Given the description of an element on the screen output the (x, y) to click on. 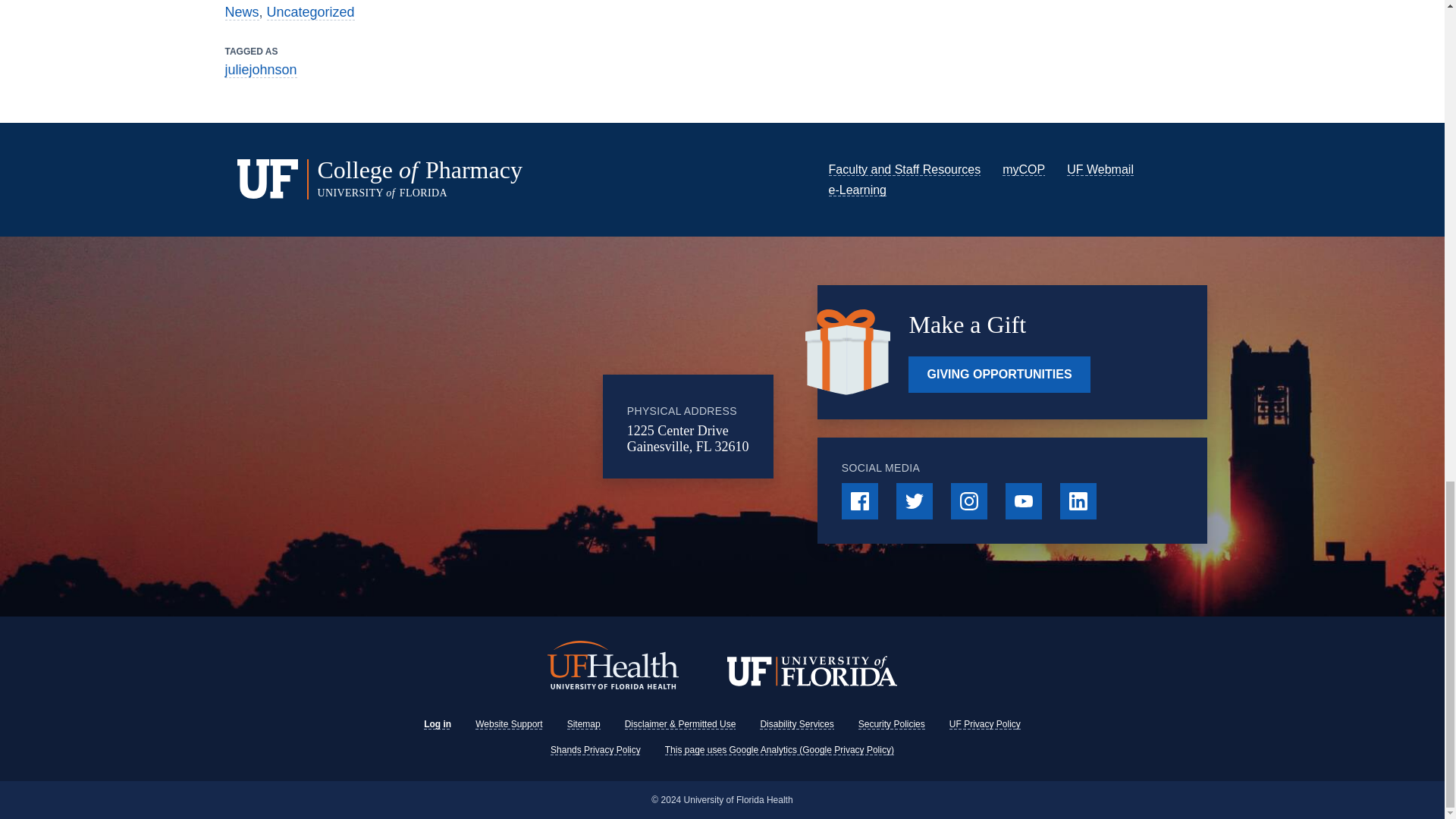
Log in (437, 724)
Disability Services (796, 724)
e-Learning (857, 189)
Google Maps Embed (478, 425)
UF Privacy Policy (984, 724)
Faculty and Staff Resources (903, 169)
UF Webmail (1100, 169)
Shands Privacy Policy (595, 749)
Security Policies (891, 724)
Website Support (509, 724)
